Given the description of an element on the screen output the (x, y) to click on. 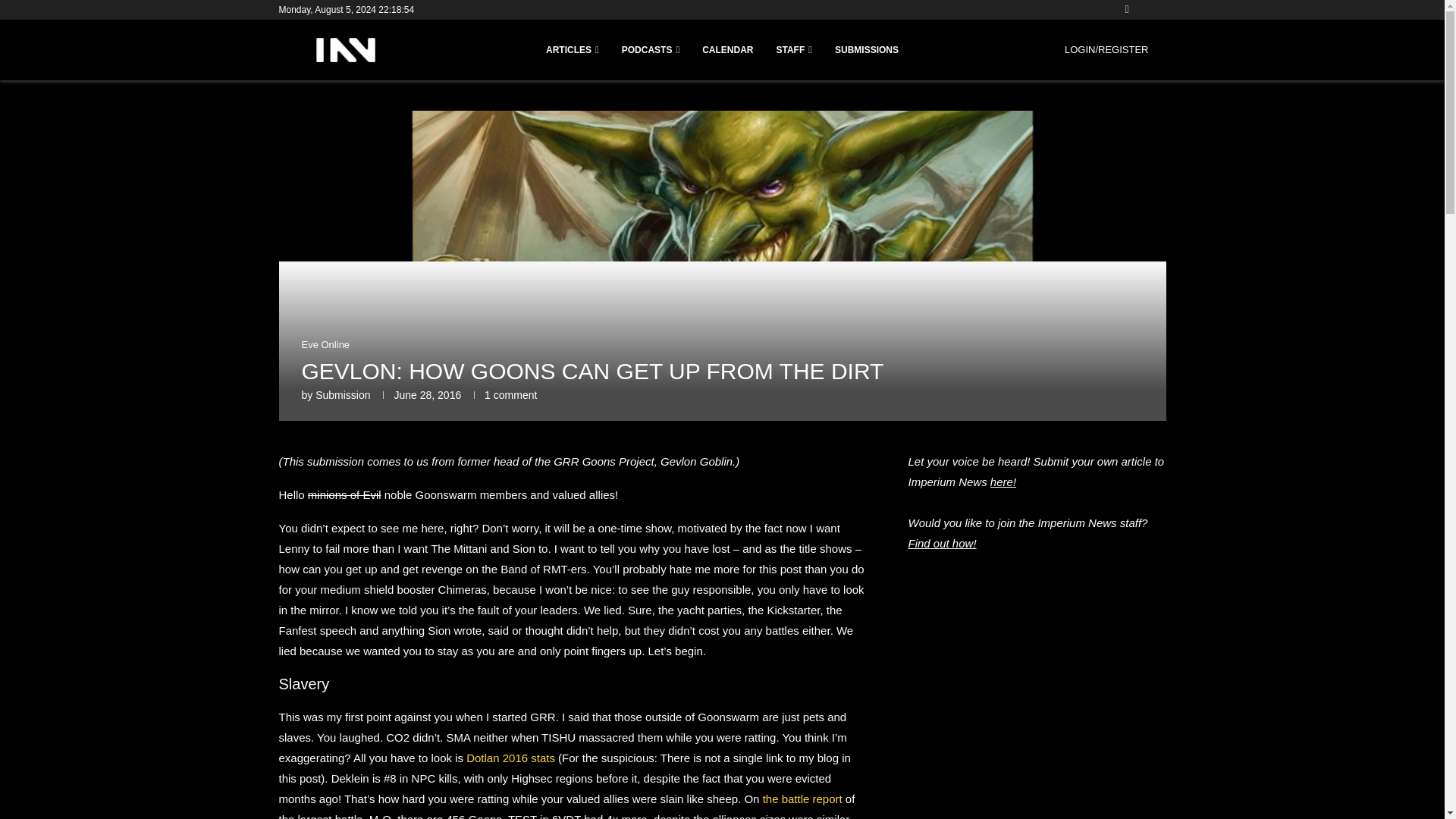
PODCASTS (650, 50)
STAFF (794, 50)
CALENDAR (726, 50)
ARTICLES (572, 50)
Submission (342, 395)
SUBMISSIONS (866, 50)
